Given the description of an element on the screen output the (x, y) to click on. 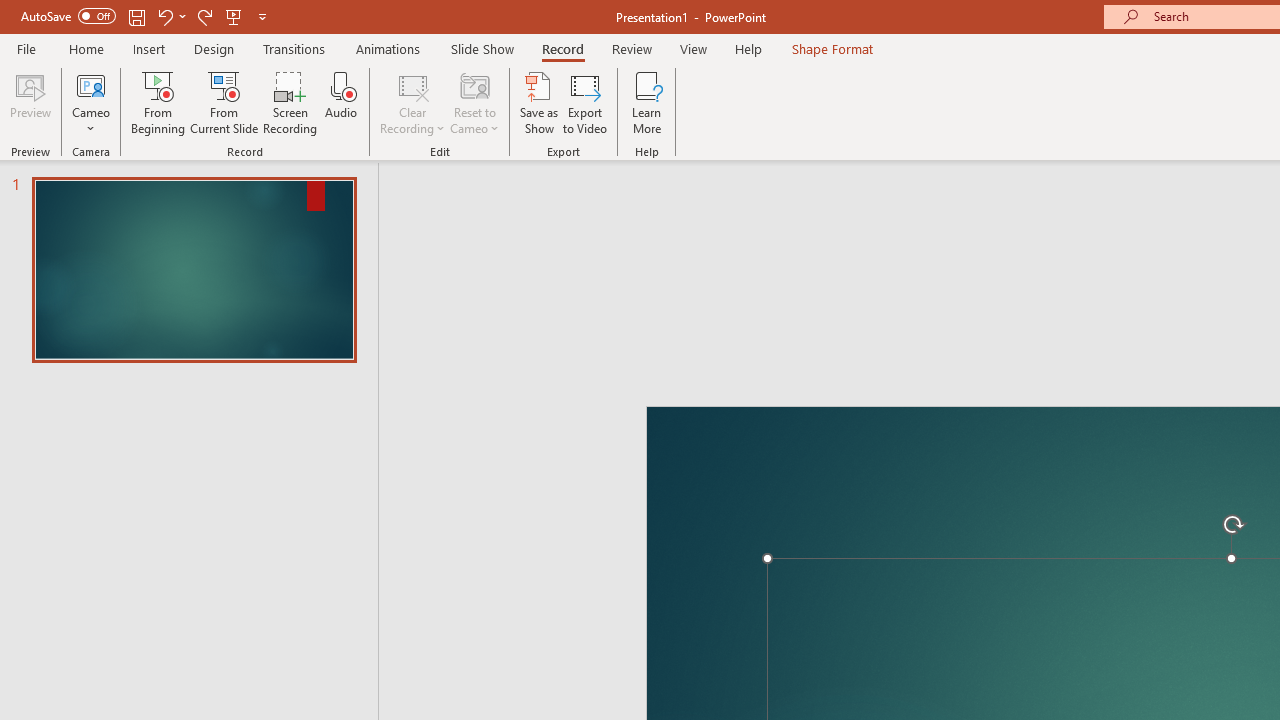
Screen Recording (290, 102)
